Given the description of an element on the screen output the (x, y) to click on. 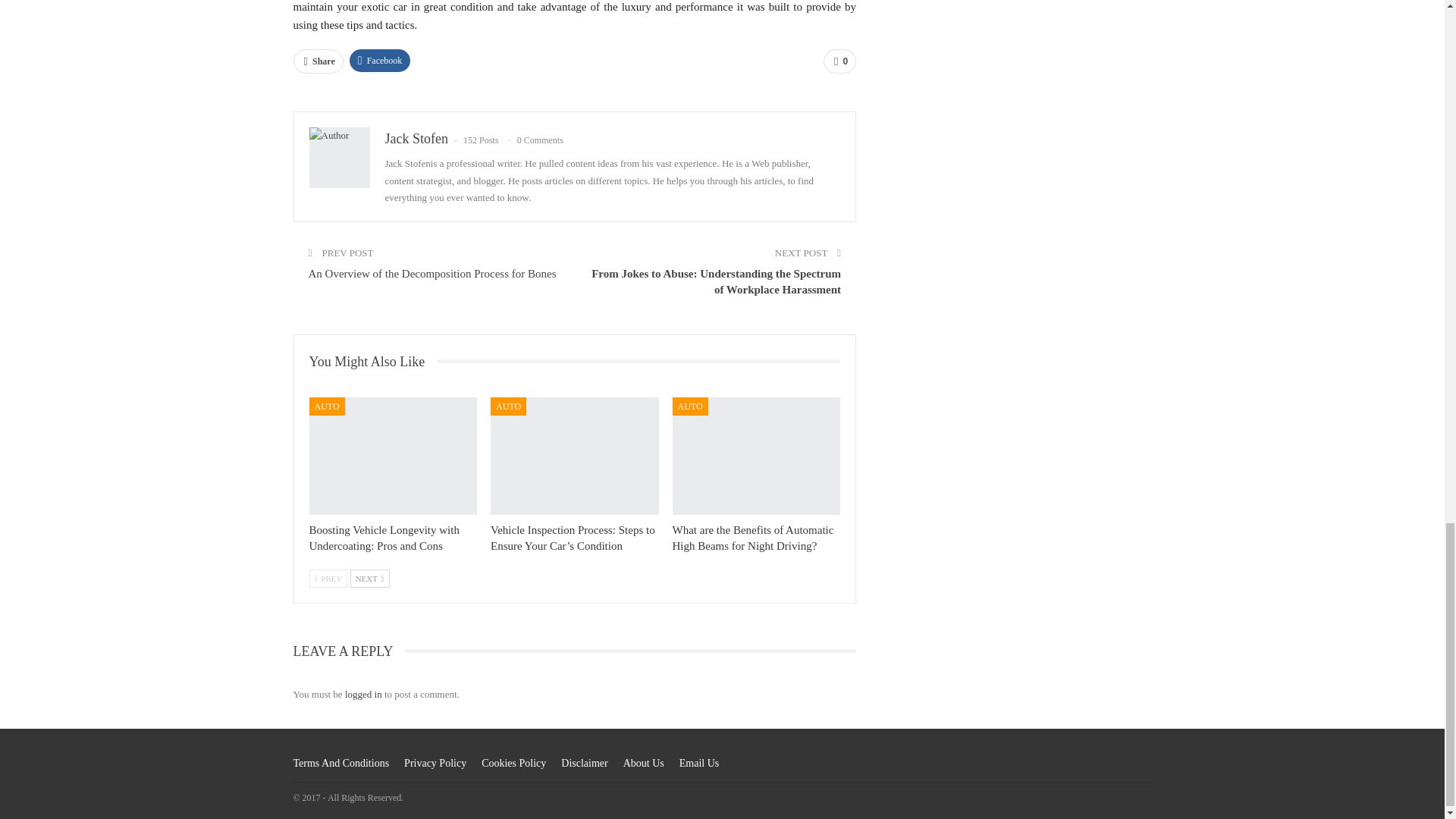
0 (840, 61)
Boosting Vehicle Longevity with Undercoating: Pros and Cons (392, 456)
AUTO (326, 406)
AUTO (507, 406)
Boosting Vehicle Longevity with Undercoating: Pros and Cons (384, 538)
Boosting Vehicle Longevity with Undercoating: Pros and Cons (384, 538)
Facebook (379, 60)
An Overview of the Decomposition Process for Bones (431, 273)
Jack Stofen (416, 138)
